Given the description of an element on the screen output the (x, y) to click on. 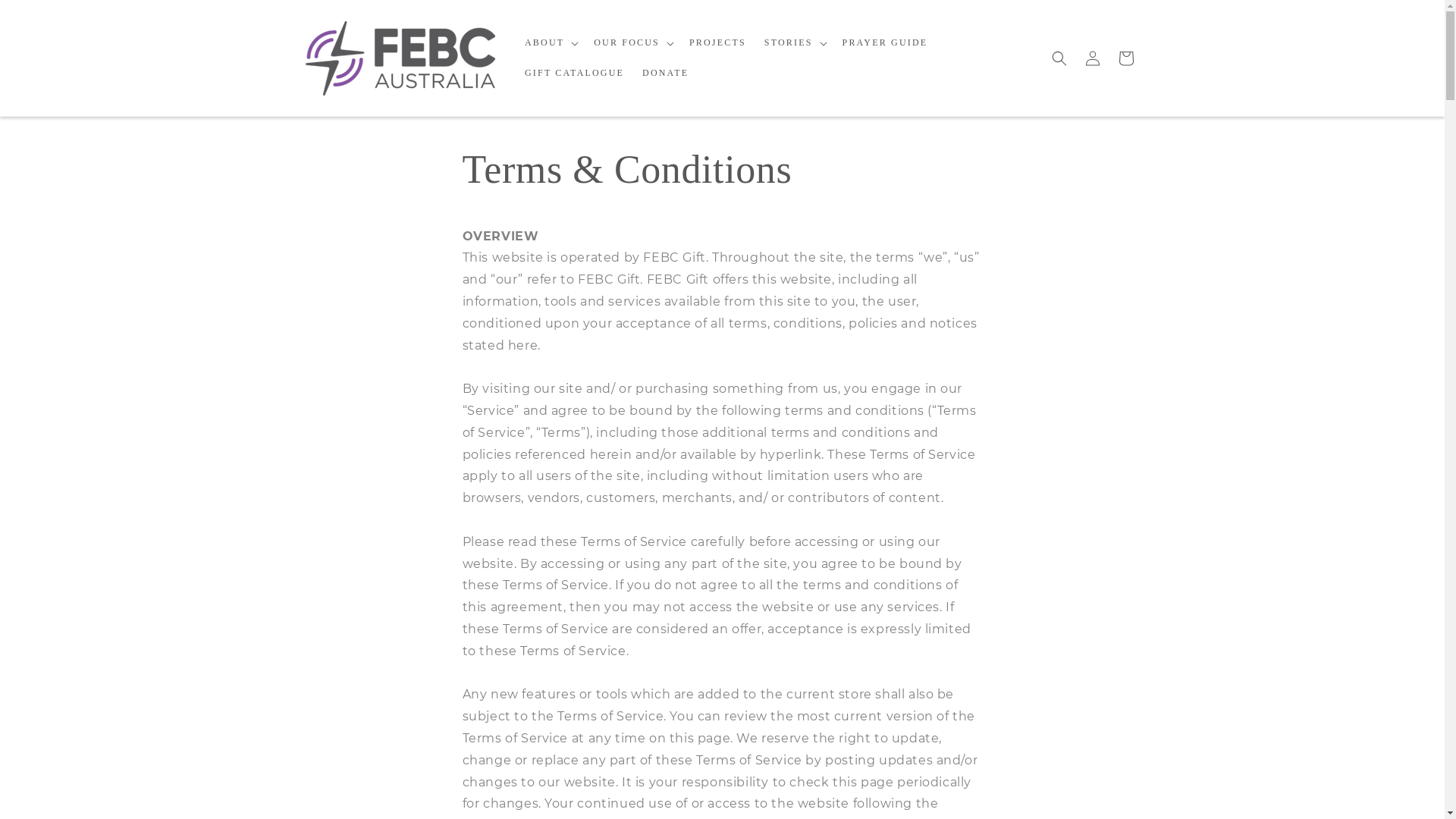
PROJECTS Element type: text (717, 43)
GIFT CATALOGUE Element type: text (574, 72)
Log in Element type: text (1091, 57)
DONATE Element type: text (665, 72)
Cart Element type: text (1125, 57)
PRAYER GUIDE Element type: text (885, 43)
